Given the description of an element on the screen output the (x, y) to click on. 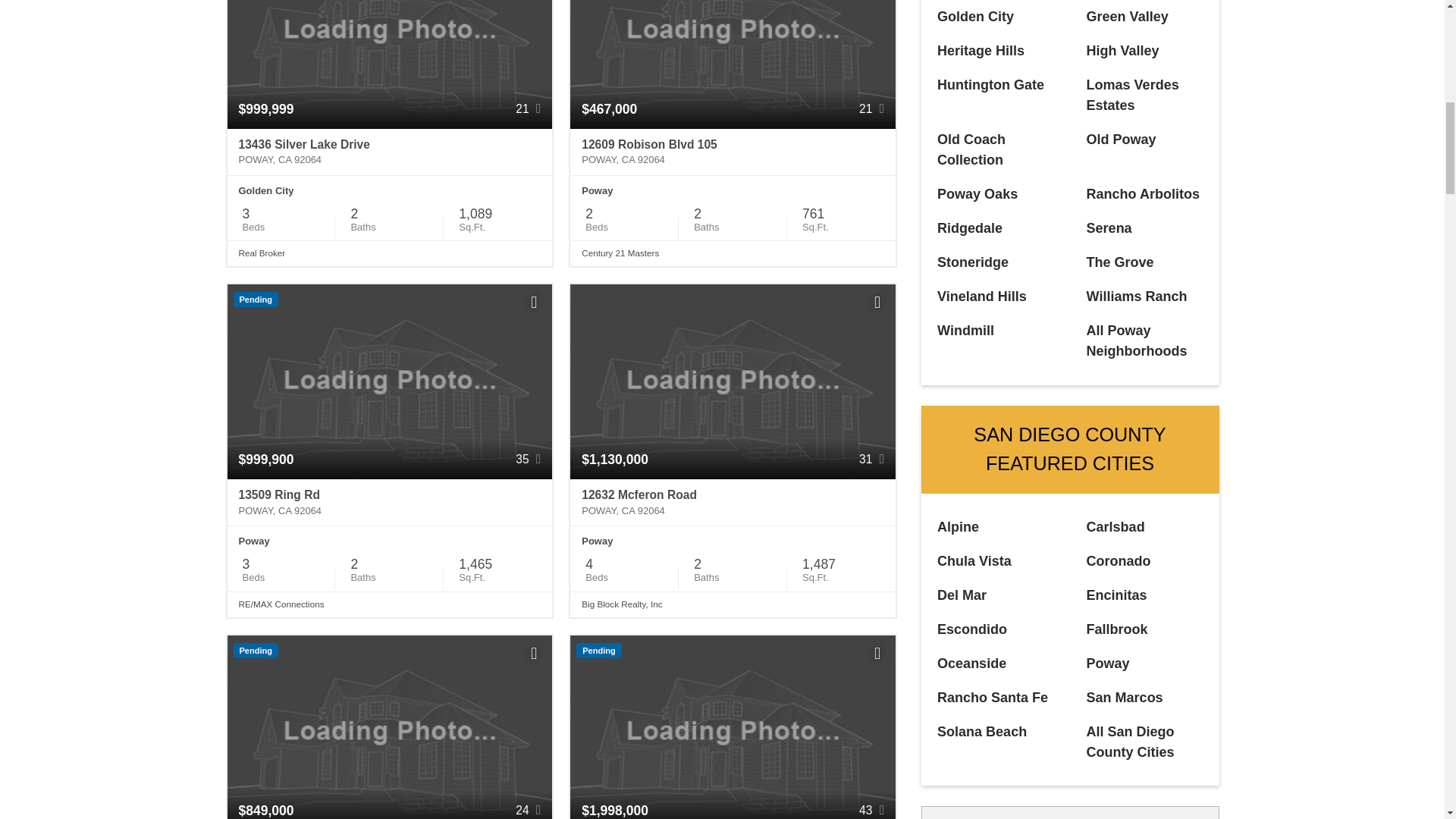
12632 Mcferon Road Poway,  CA 92064 (732, 502)
13436 Silver Lake Drive Poway,  CA 92064 (390, 152)
12609 Robison Blvd 105 Poway,  CA 92064 (732, 152)
13509 Ring Rd Poway,  CA 92064 (390, 502)
